Given the description of an element on the screen output the (x, y) to click on. 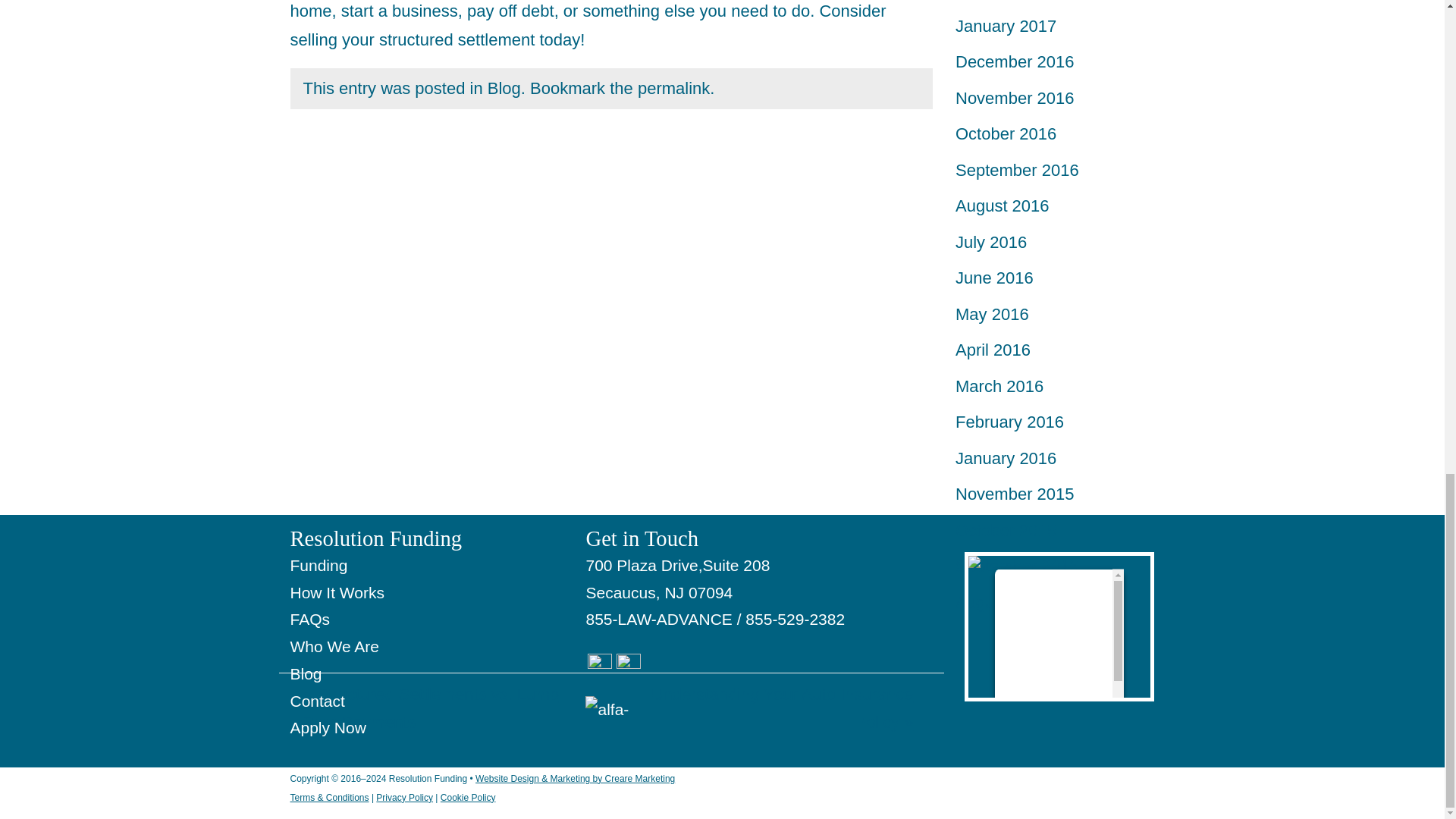
permalink (673, 87)
May 2016 (992, 313)
December 2016 (1014, 61)
September 2016 (1016, 169)
November 2016 (1014, 97)
October 2016 (1006, 133)
Blog (504, 87)
January 2017 (1006, 26)
July 2016 (990, 241)
June 2016 (994, 277)
